Given the description of an element on the screen output the (x, y) to click on. 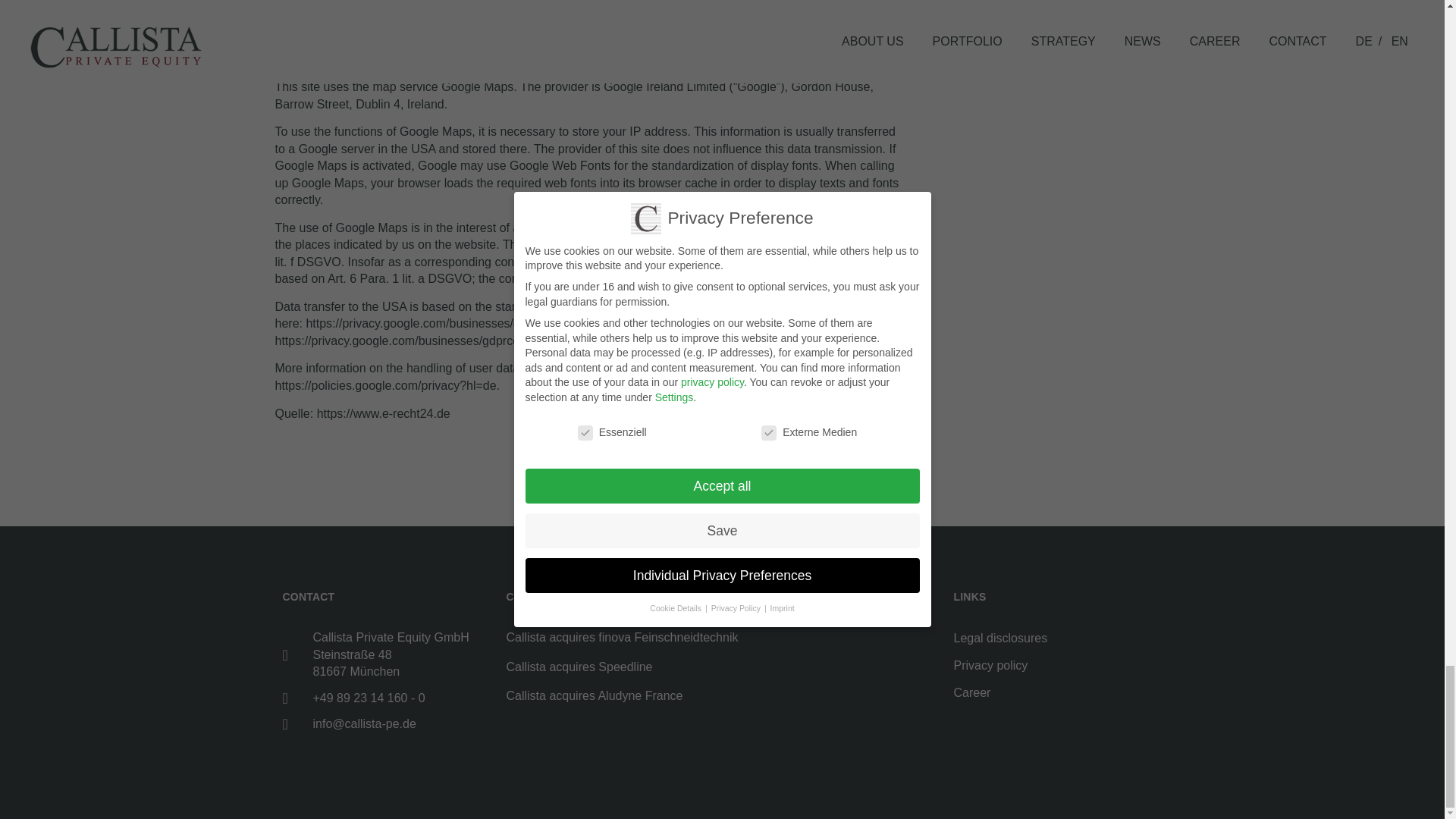
Callista acquires Aludyne France (594, 695)
Callista acquires finova Feinschneidtechnik (622, 636)
Legal disclosures (1057, 637)
Callista acquires Speedline (579, 666)
